Given the description of an element on the screen output the (x, y) to click on. 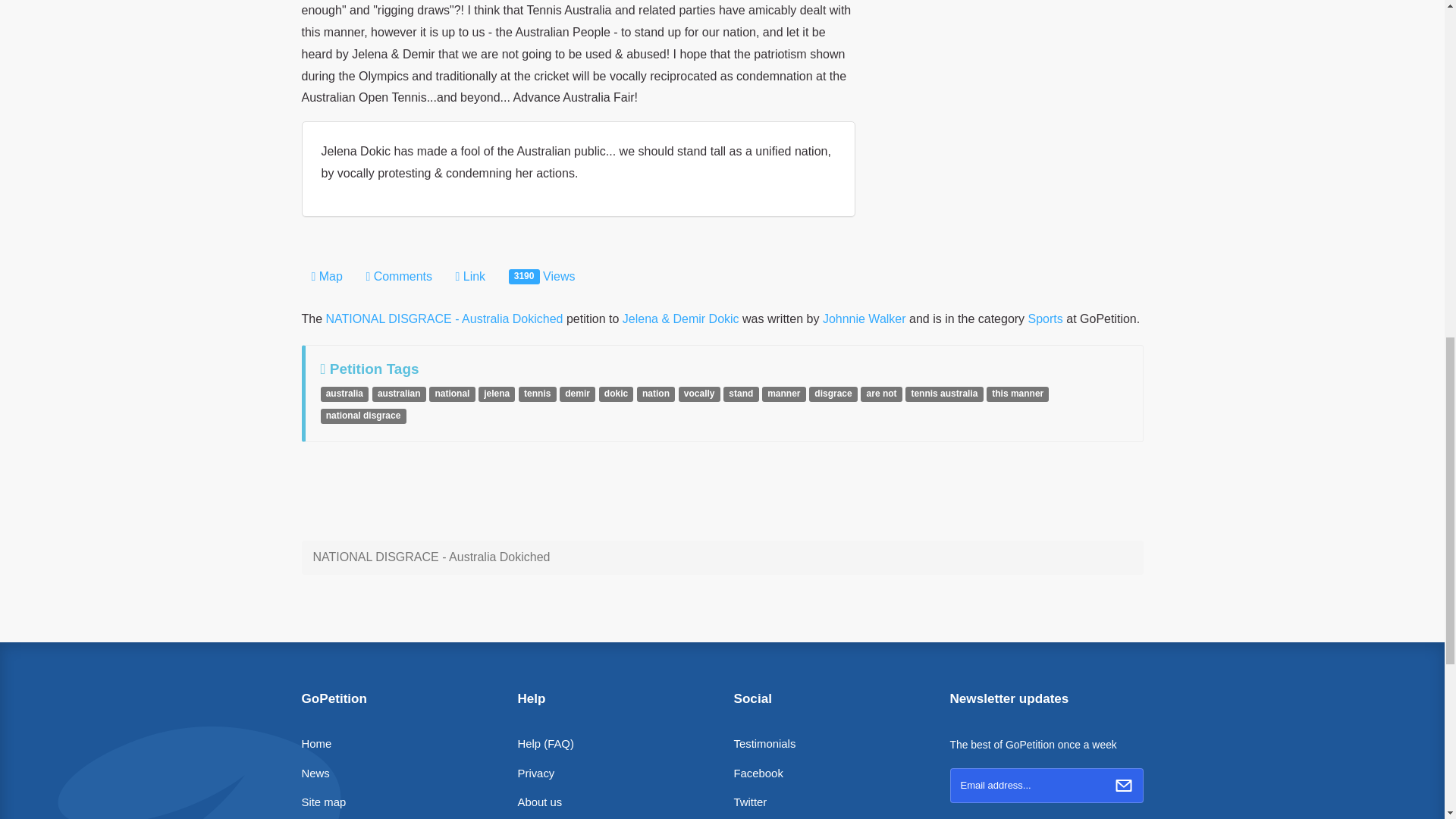
Map (326, 277)
Privacy statement (535, 773)
Link (470, 277)
Comments (398, 277)
australian (399, 391)
demir (577, 391)
manner (783, 391)
About us (539, 802)
dokic (615, 391)
GoPetition on Facebook (758, 773)
3190 Views (542, 277)
australia (344, 391)
national (451, 391)
Site map (323, 802)
Petition news, success stories and site updates (315, 773)
